Given the description of an element on the screen output the (x, y) to click on. 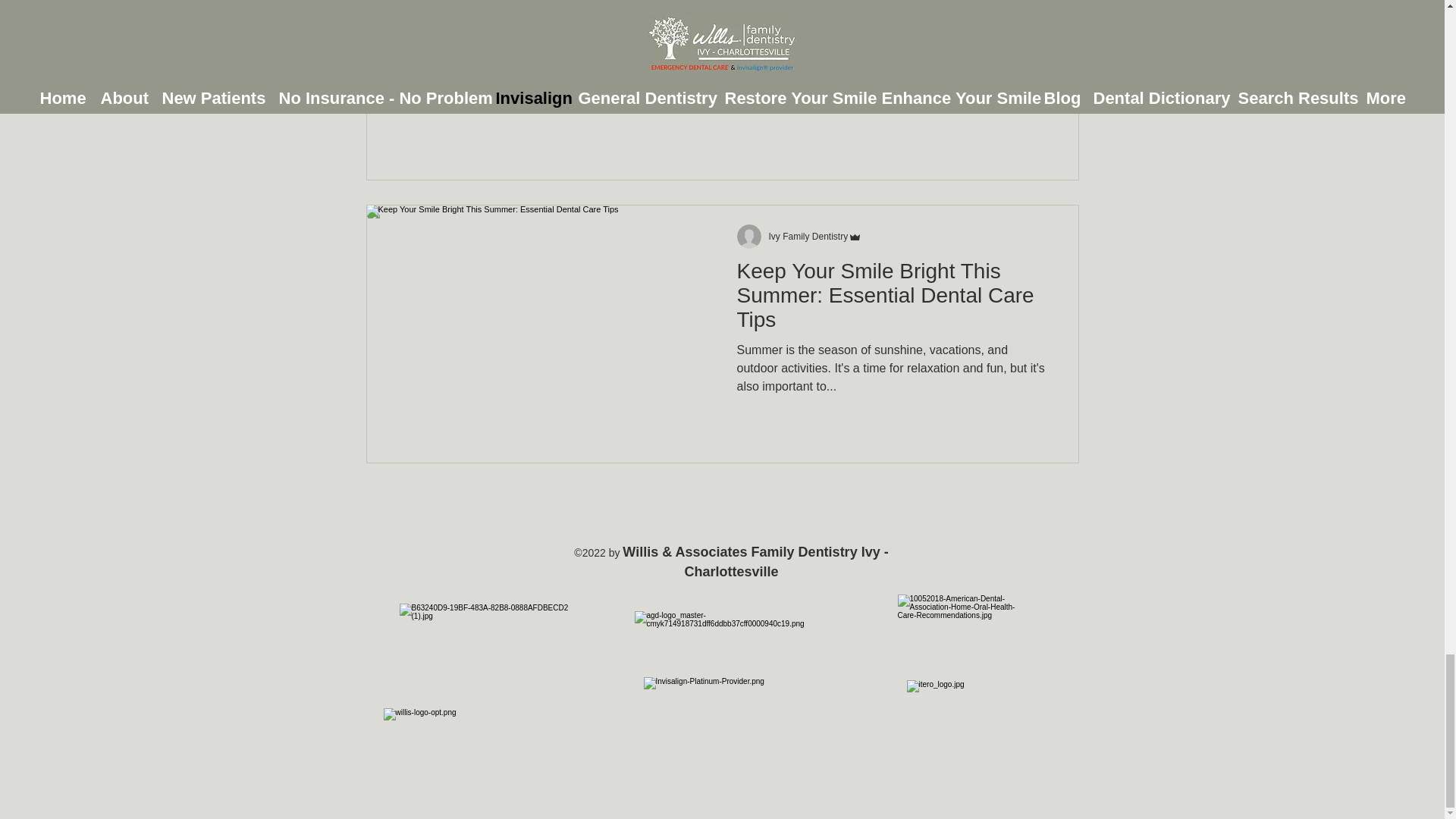
Ivy Family Dentistry (808, 235)
Ivy Family Dentistry (815, 236)
